Given the description of an element on the screen output the (x, y) to click on. 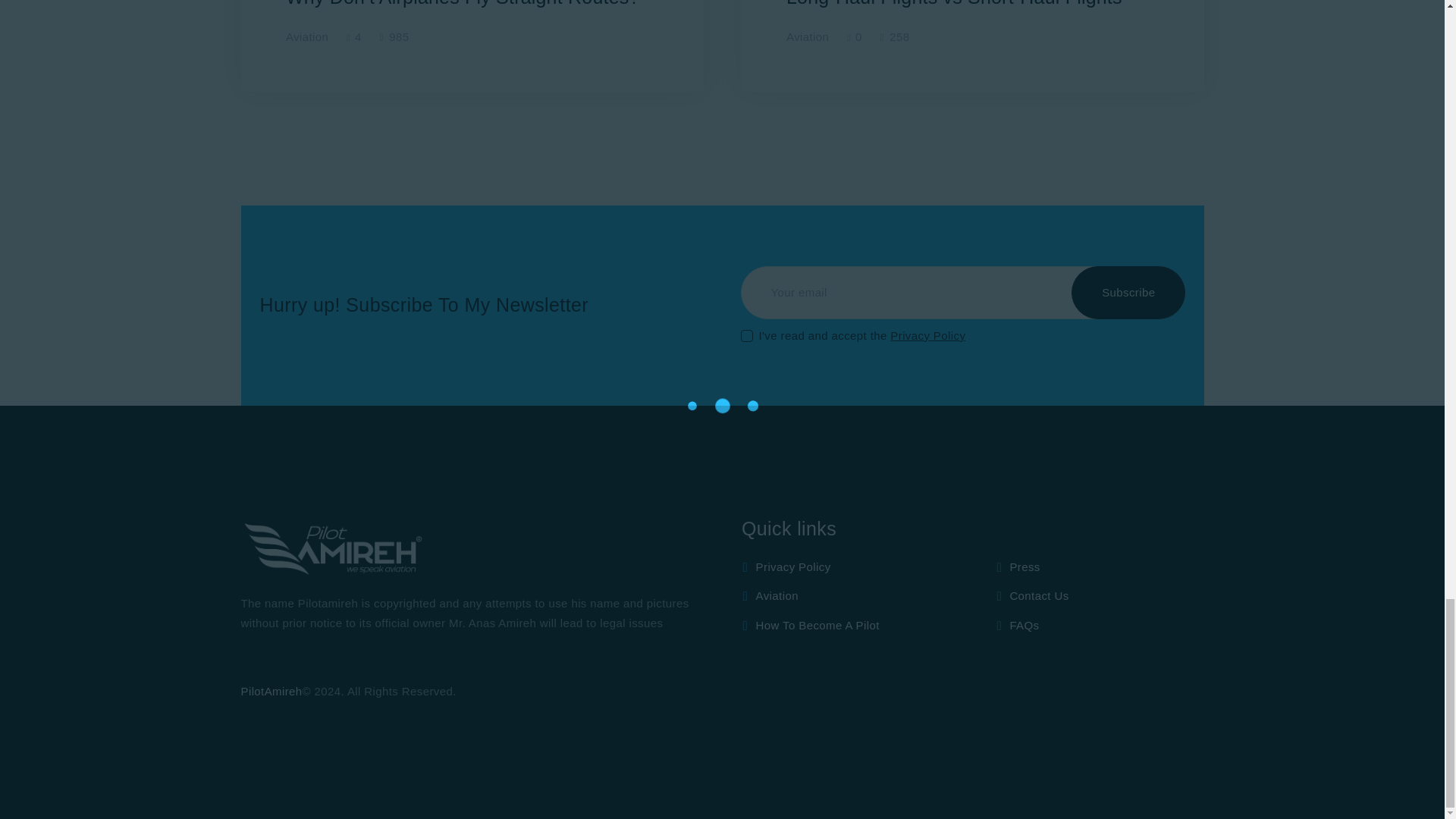
1 (746, 324)
Subscribe (1128, 292)
